Given the description of an element on the screen output the (x, y) to click on. 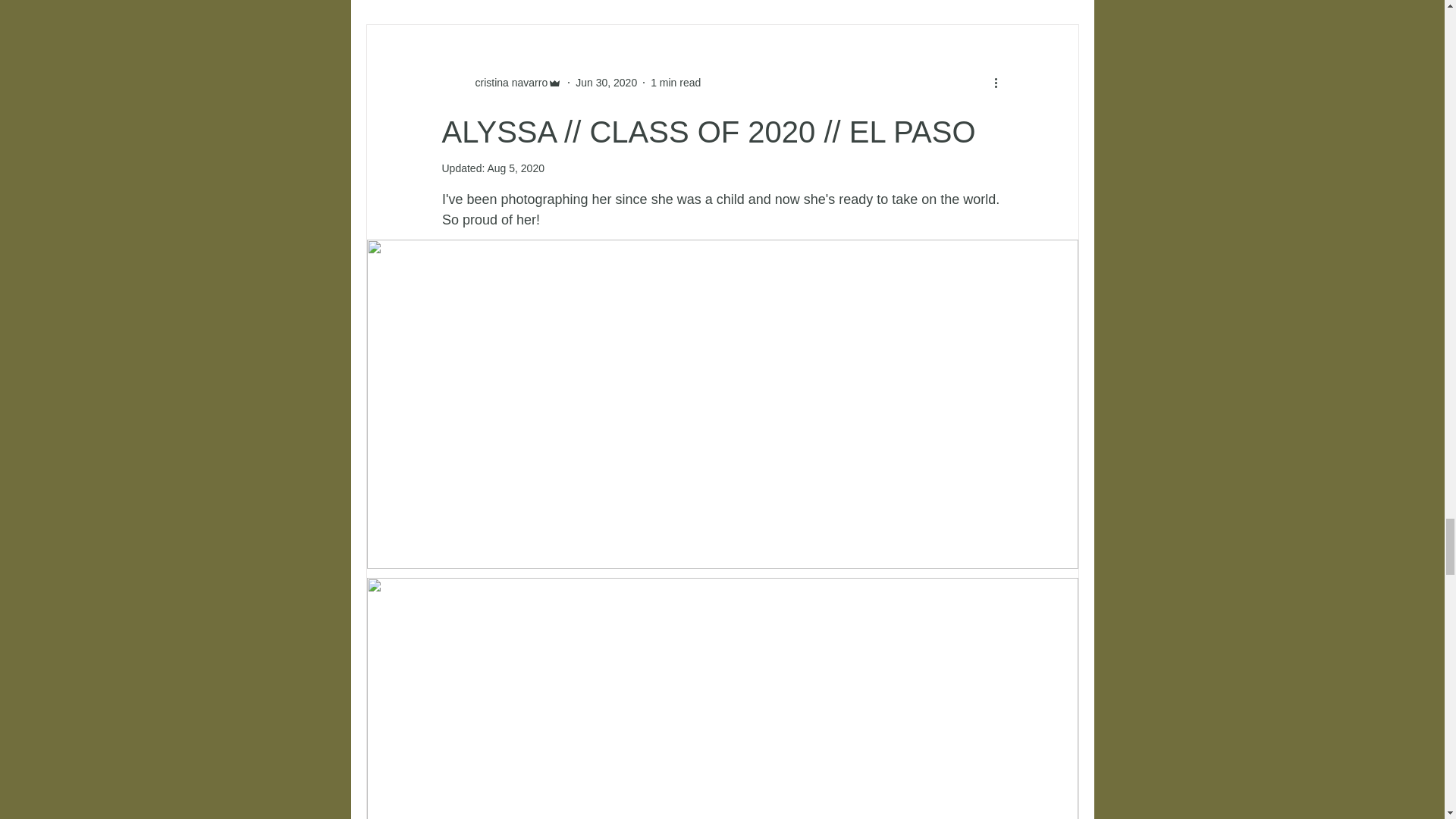
Jun 30, 2020 (606, 81)
1 min read (675, 81)
cristina navarro (501, 82)
Aug 5, 2020 (515, 168)
cristina navarro (506, 82)
